Given the description of an element on the screen output the (x, y) to click on. 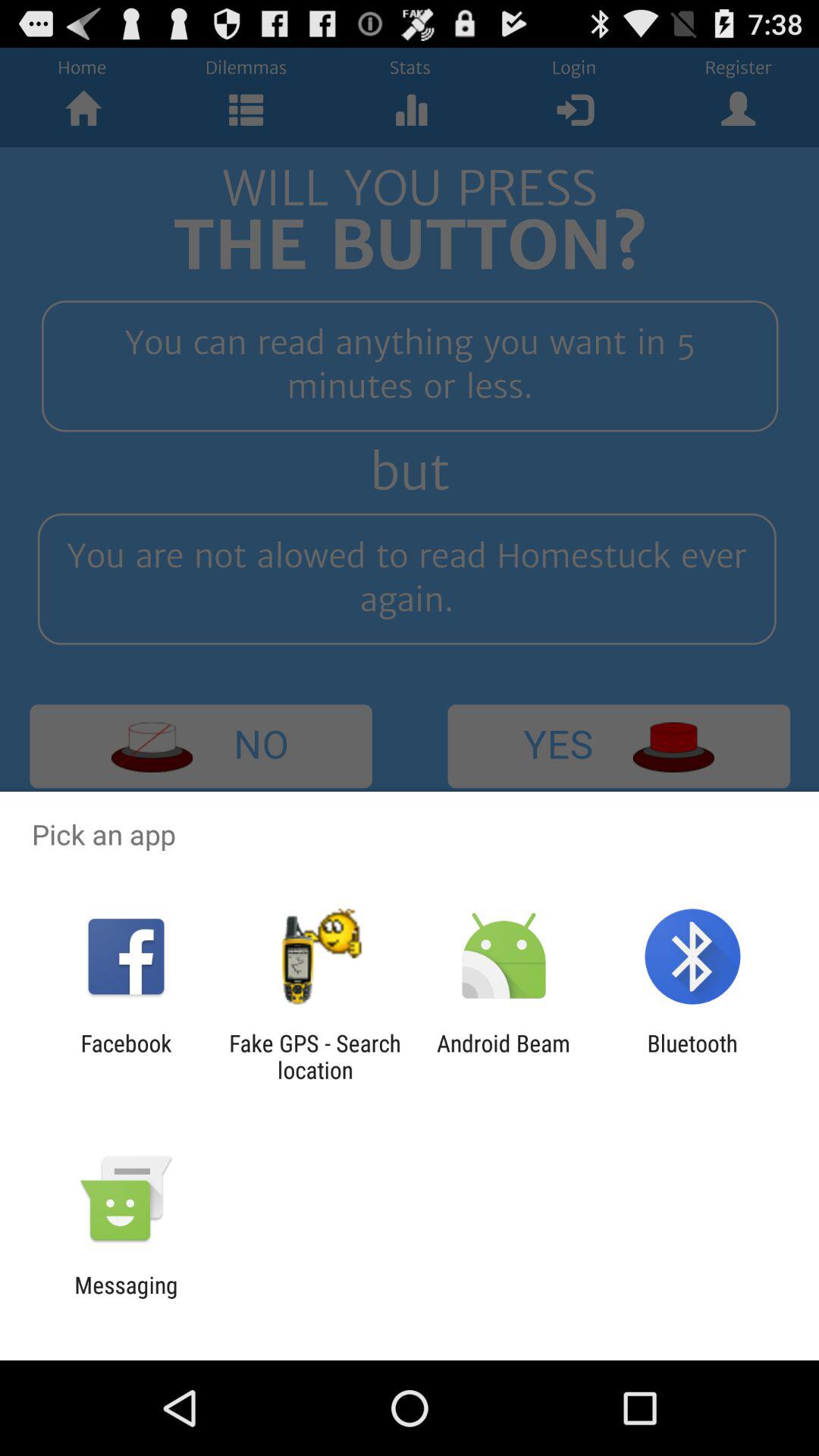
open the app next to facebook (314, 1056)
